Given the description of an element on the screen output the (x, y) to click on. 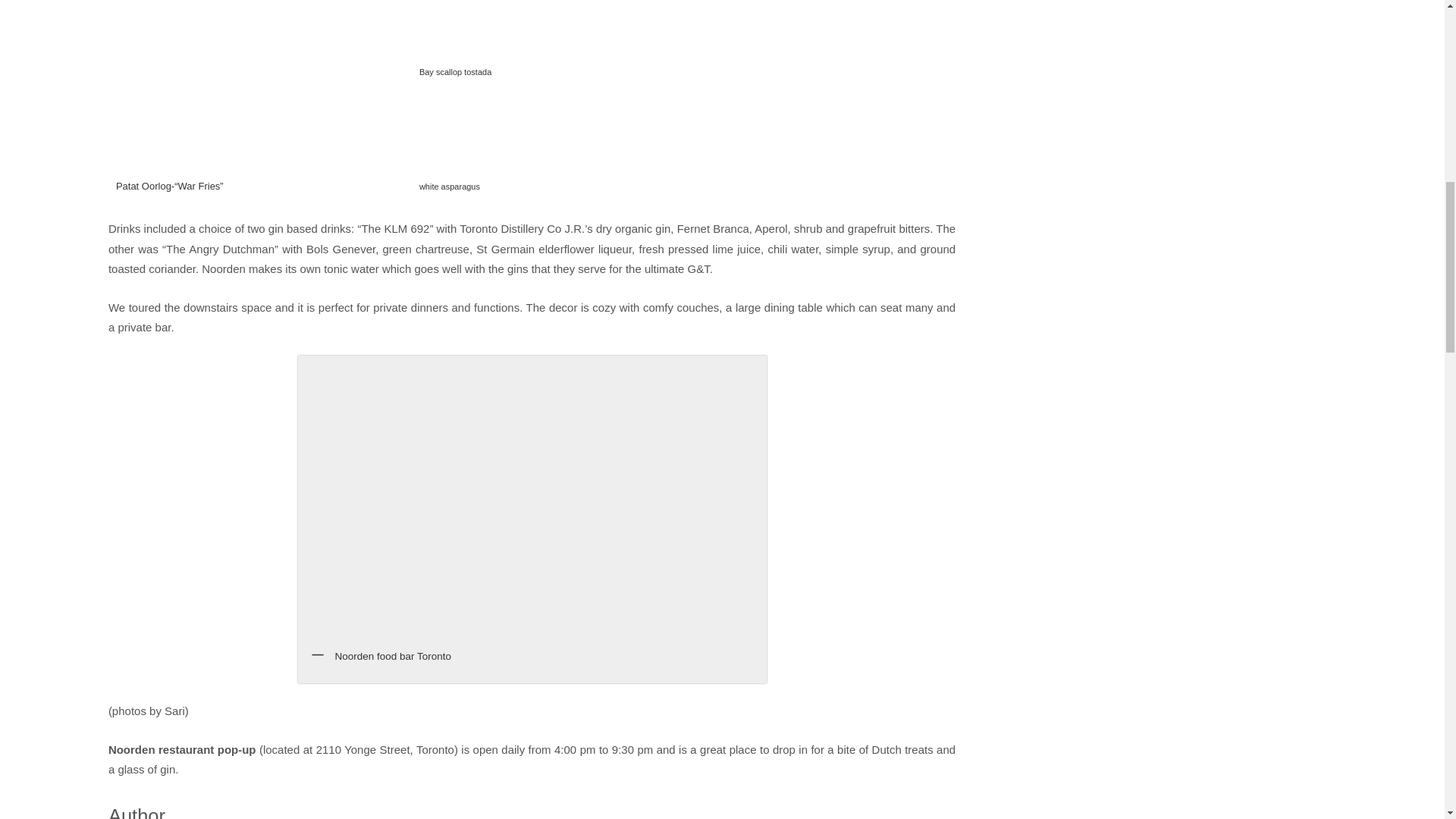
Noorden Dutch restaurant (487, 146)
Noorden Dutch restaurant (260, 101)
Noorden Dutch restaurant (487, 43)
